Given the description of an element on the screen output the (x, y) to click on. 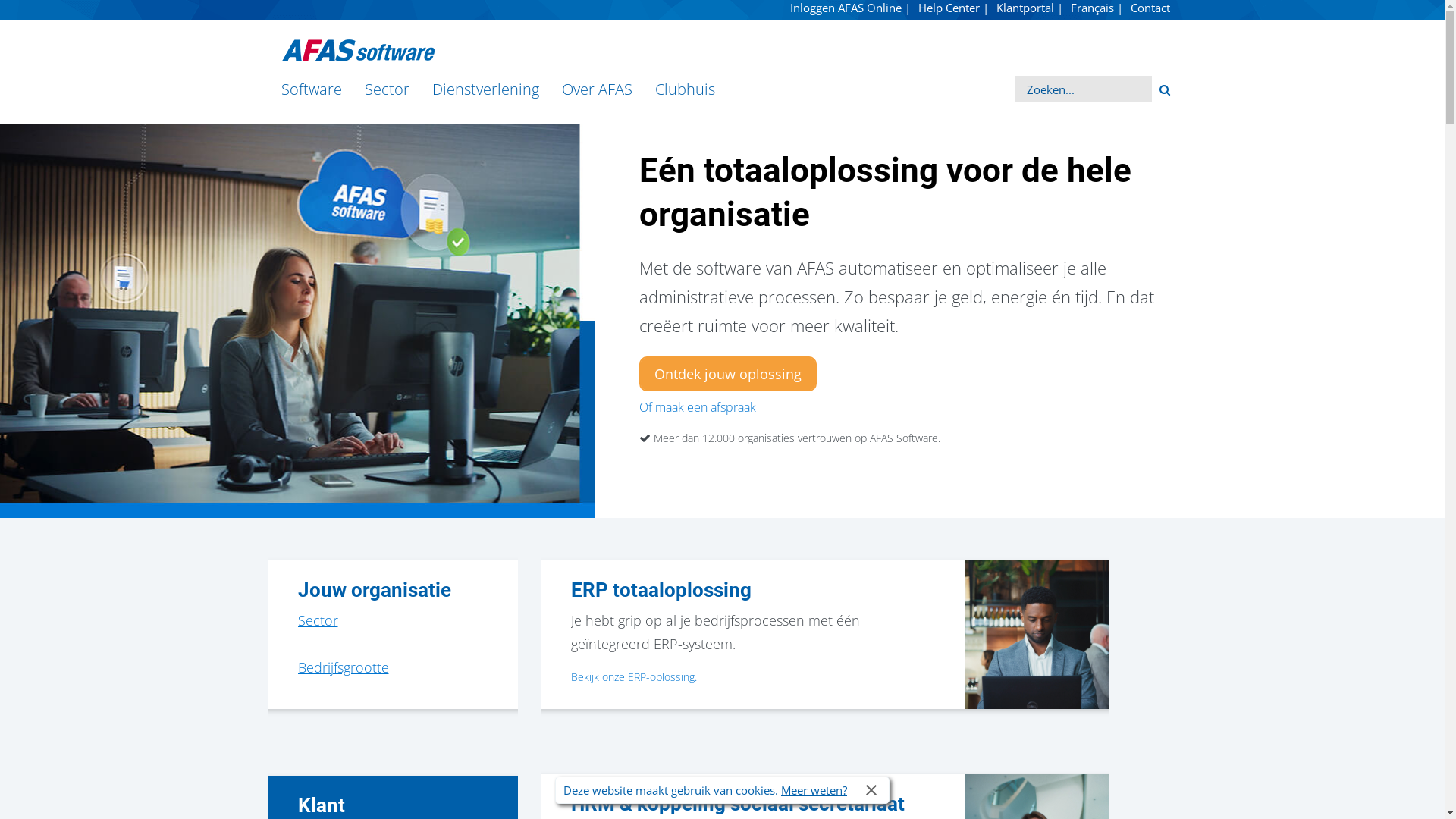
Of maak een afspraak Element type: text (696, 406)
Software Element type: text (311, 88)
Clubhuis Element type: text (684, 88)
Klantportal | Element type: text (1029, 7)
Inloggen AFAS Online | Element type: text (850, 7)
Sector Element type: text (386, 88)
Over AFAS Element type: text (596, 88)
Meer weten? Element type: text (814, 789)
Dienstverlening Element type: text (484, 88)
Sector Element type: text (317, 620)
Bedrijfsgrootte Element type: text (342, 667)
Contact Element type: text (1149, 7)
Bekijk onze ERP-oplossing. Element type: text (633, 676)
Ontdek jouw oplossing Element type: text (726, 373)
Help Center | Element type: text (952, 7)
